Given the description of an element on the screen output the (x, y) to click on. 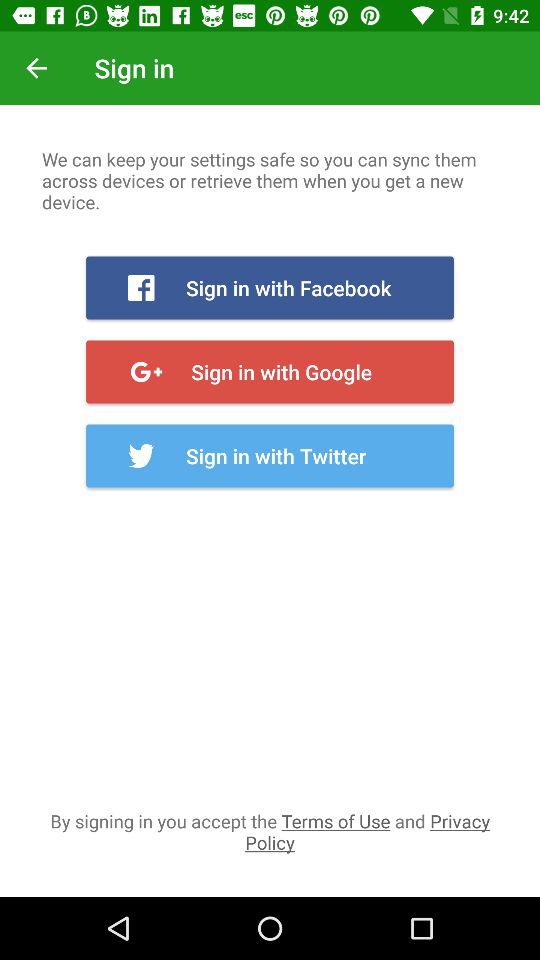
press icon next to sign in icon (36, 68)
